Given the description of an element on the screen output the (x, y) to click on. 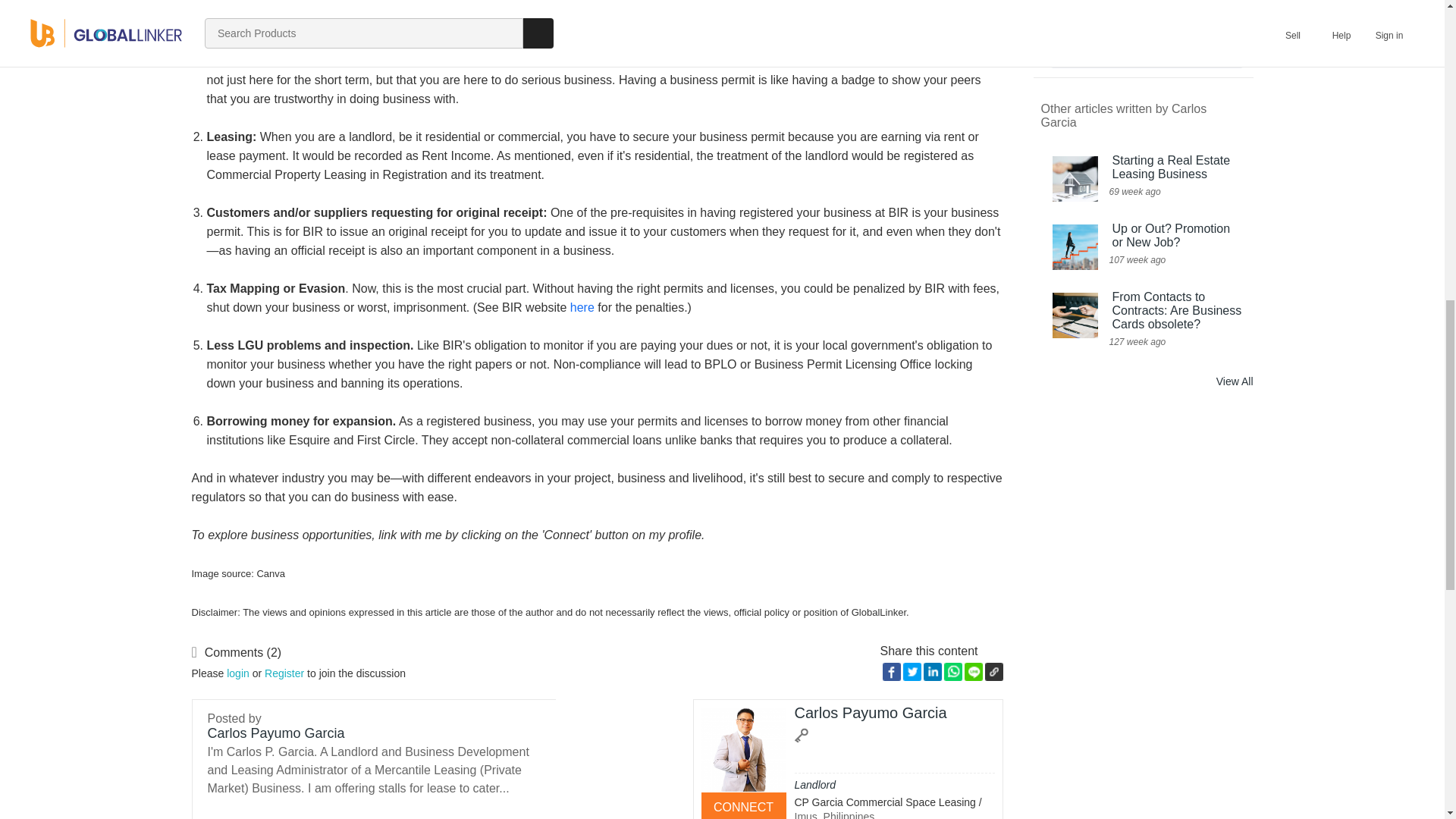
here (582, 307)
Carlos Garcia (743, 749)
